Given the description of an element on the screen output the (x, y) to click on. 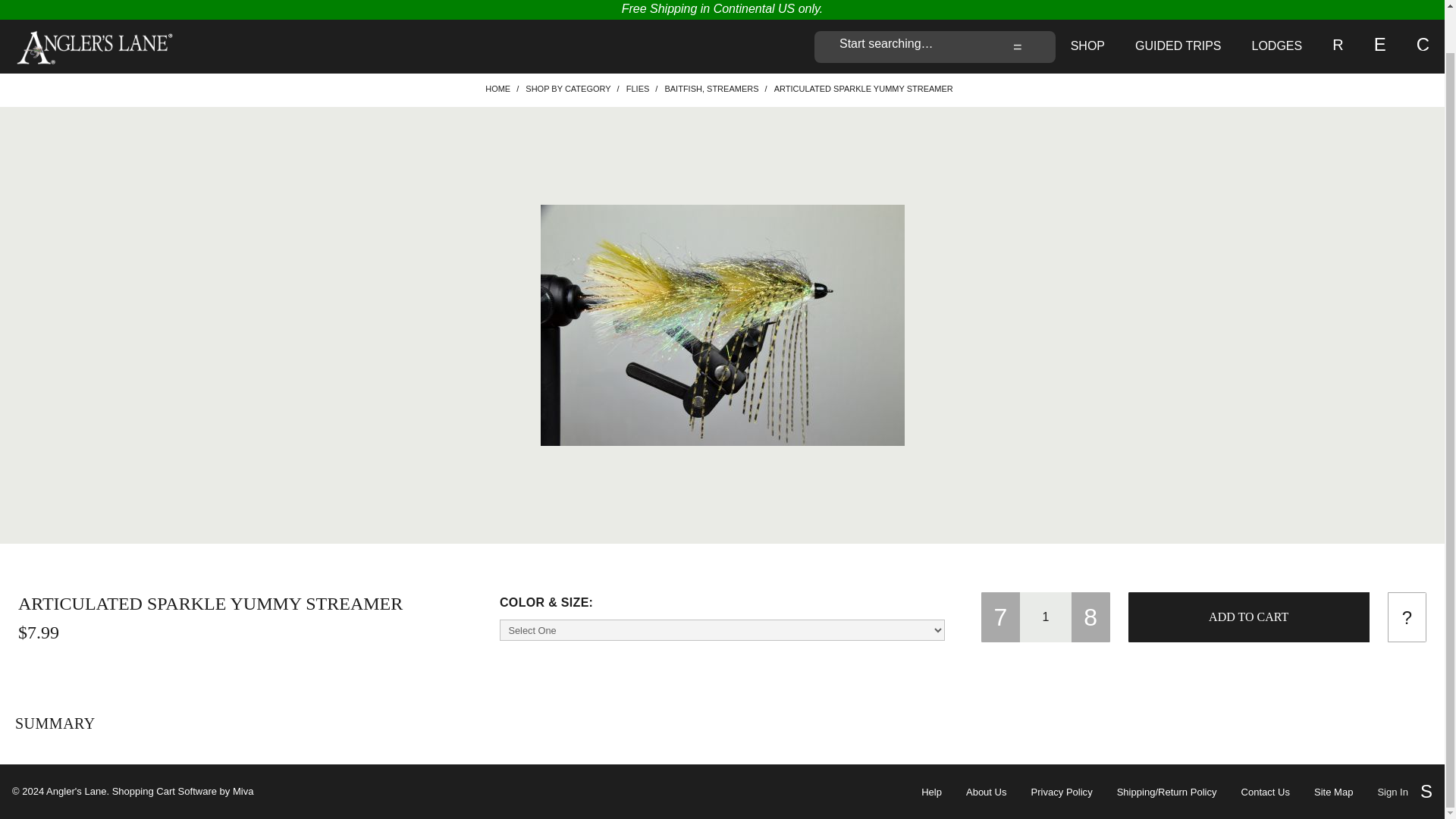
Home (497, 89)
Angler's Lane Virginia Fly Fishing (93, 46)
Site Powered by Miva (182, 791)
1 (1045, 617)
Flies (637, 89)
Articulated Sparkle Yummy Streamer (722, 324)
Baitfish, Streamers (710, 89)
Angler's Lane (93, 47)
Shop By Category (567, 89)
Add To Cart (1249, 617)
